Given the description of an element on the screen output the (x, y) to click on. 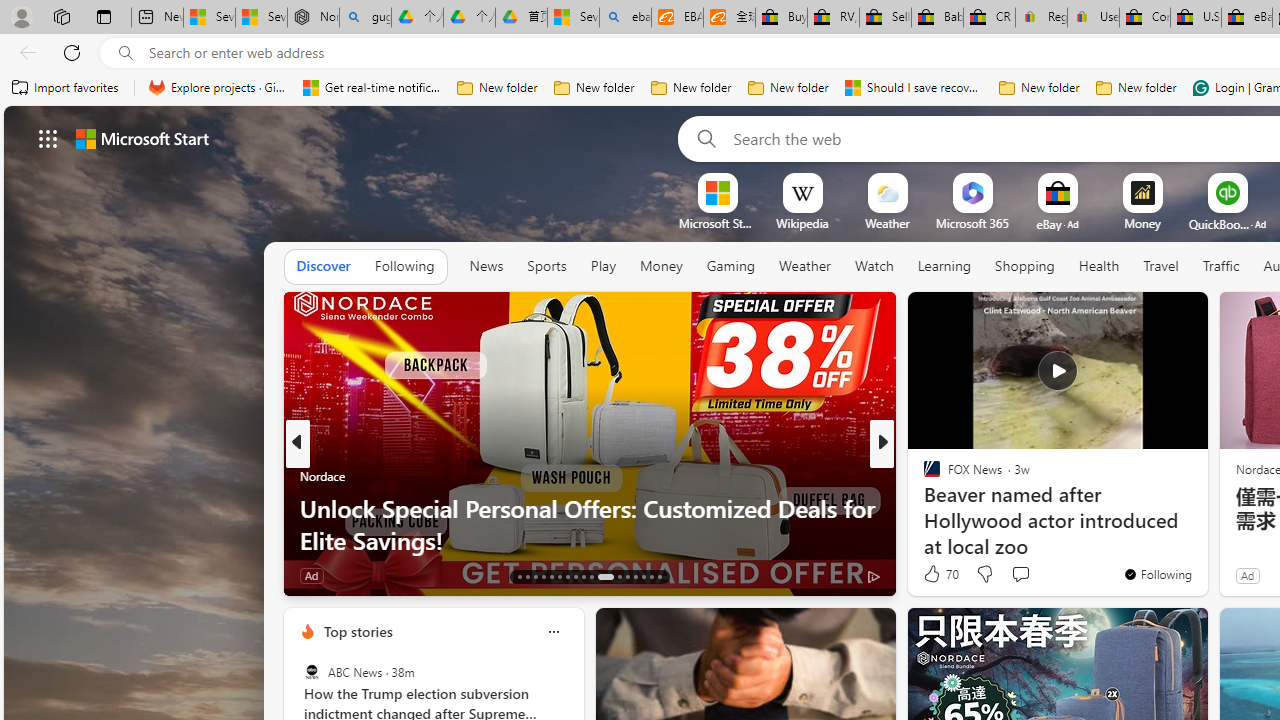
ebay - Search (625, 17)
Learning (944, 265)
Learning (944, 267)
Import favorites (65, 88)
ABC News (311, 672)
AutomationID: tab-34 (650, 576)
Hide this story (1147, 315)
News (485, 267)
Sell worldwide with eBay (885, 17)
SheBudgets (923, 507)
Search icon (125, 53)
